Given the description of an element on the screen output the (x, y) to click on. 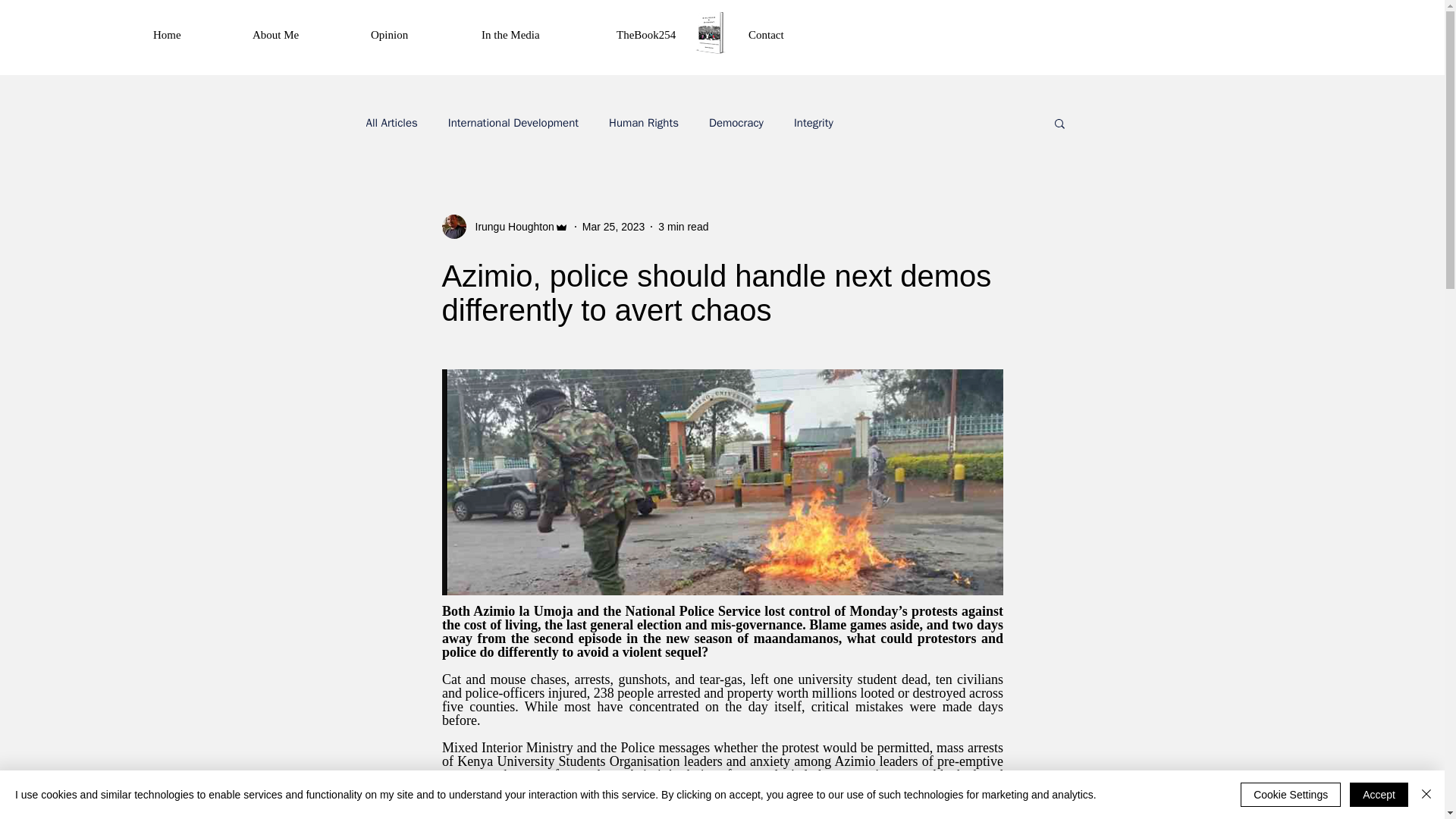
About Me (299, 35)
Irungu Houghton (509, 226)
3 min read (682, 225)
Cookie Settings (1290, 794)
International Development (513, 122)
Contact (789, 35)
Democracy (735, 122)
Opinion (413, 35)
Home (190, 35)
TheBook254 (670, 35)
